Given the description of an element on the screen output the (x, y) to click on. 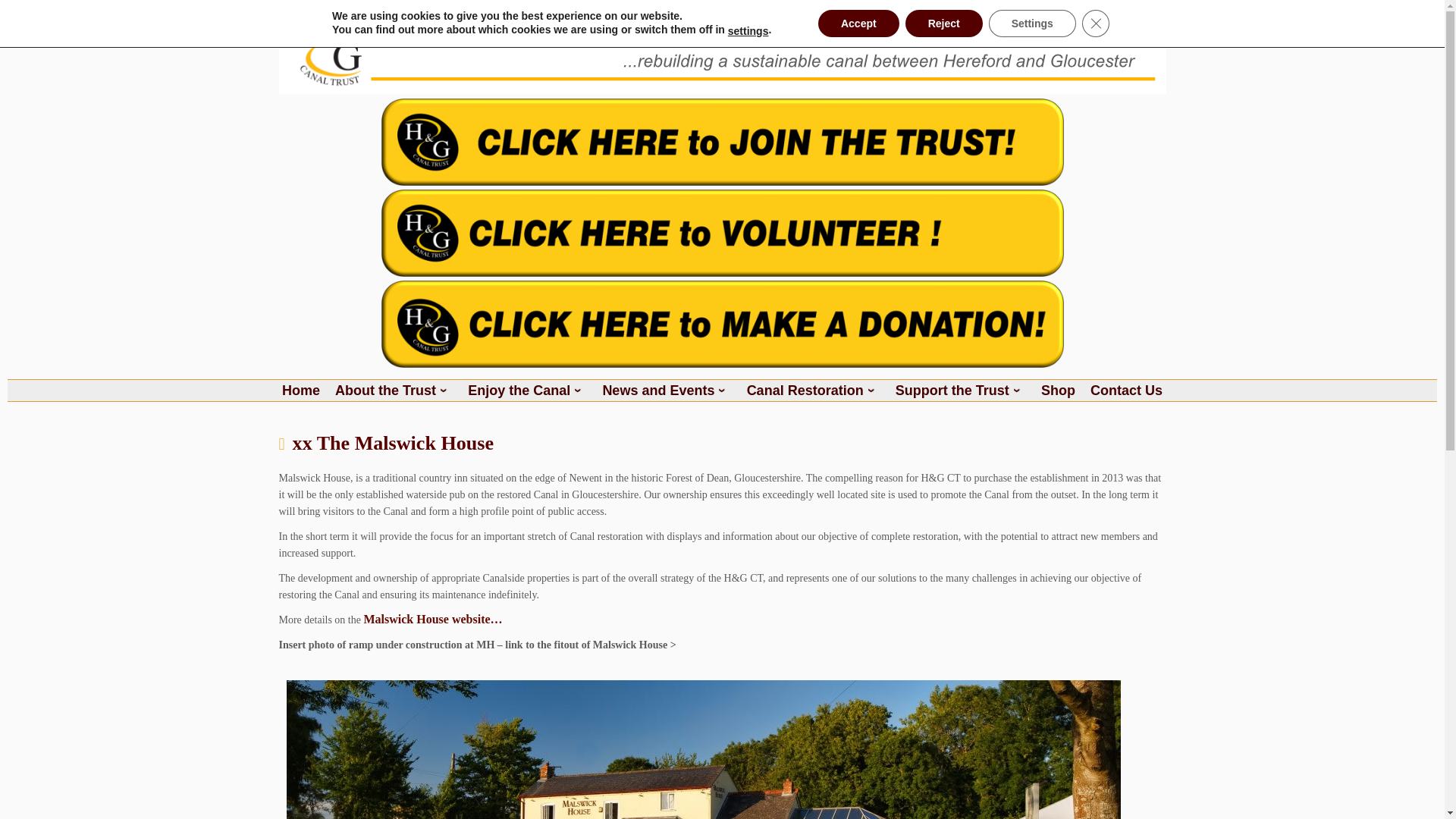
Get Involved Join the Trust Button (721, 141)
News and Events (666, 390)
Get Involved Volunteer Button (721, 232)
Canal Restoration (812, 390)
About the Trust (394, 390)
Enjoy the Canal (527, 390)
Home (300, 390)
Get Involved Make a Donation Button (721, 323)
